Given the description of an element on the screen output the (x, y) to click on. 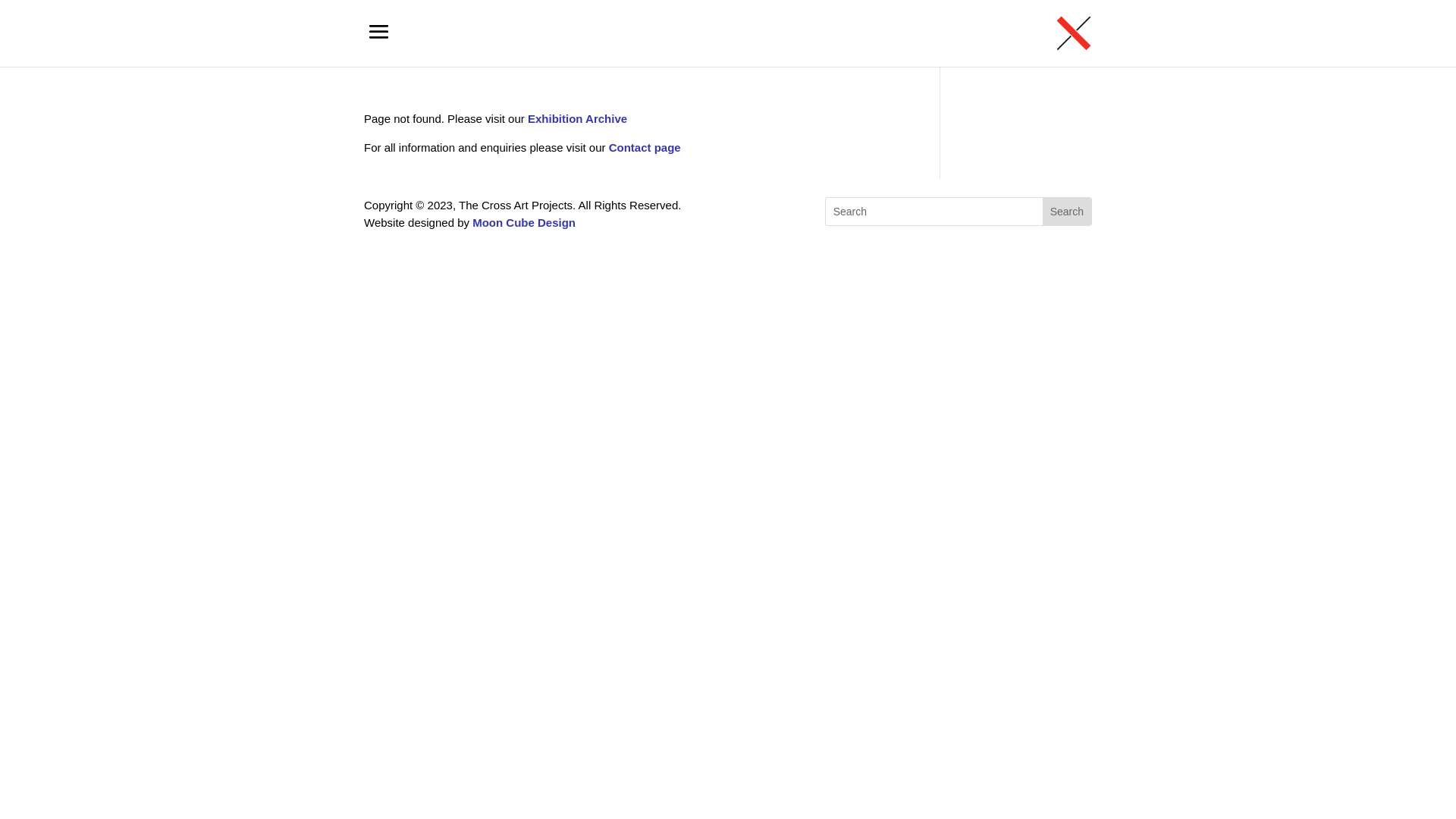
Moon Cube Design Element type: text (523, 221)
Exhibition Archive Element type: text (577, 118)
Contact page Element type: text (644, 147)
Search Element type: text (1066, 211)
